Given the description of an element on the screen output the (x, y) to click on. 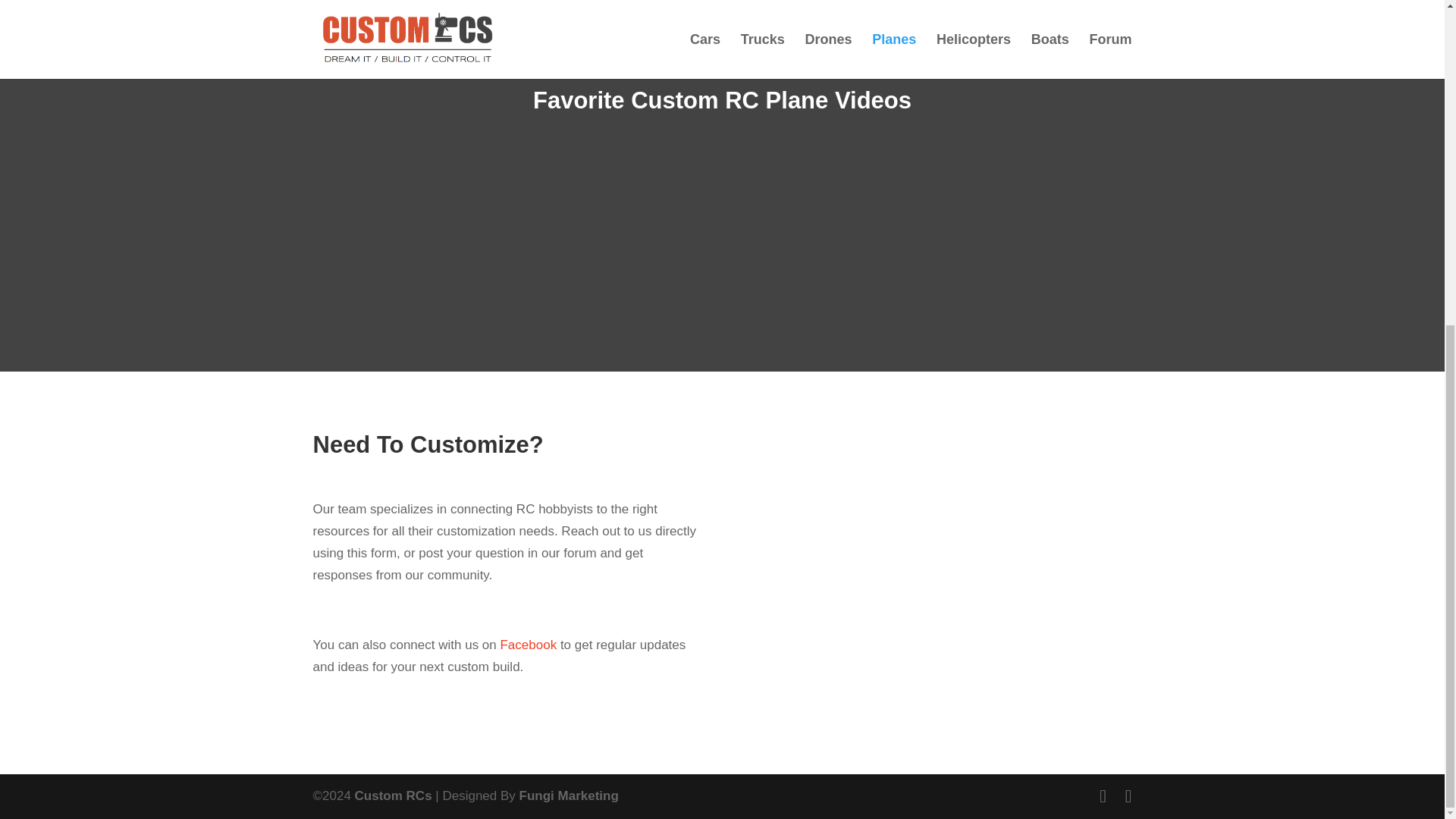
200 MPH custom built jet (721, 241)
RC Plane Suspension: the results are shocking (433, 241)
Custom RCs (393, 795)
Fungi Marketing (568, 795)
Facebook (527, 644)
